Given the description of an element on the screen output the (x, y) to click on. 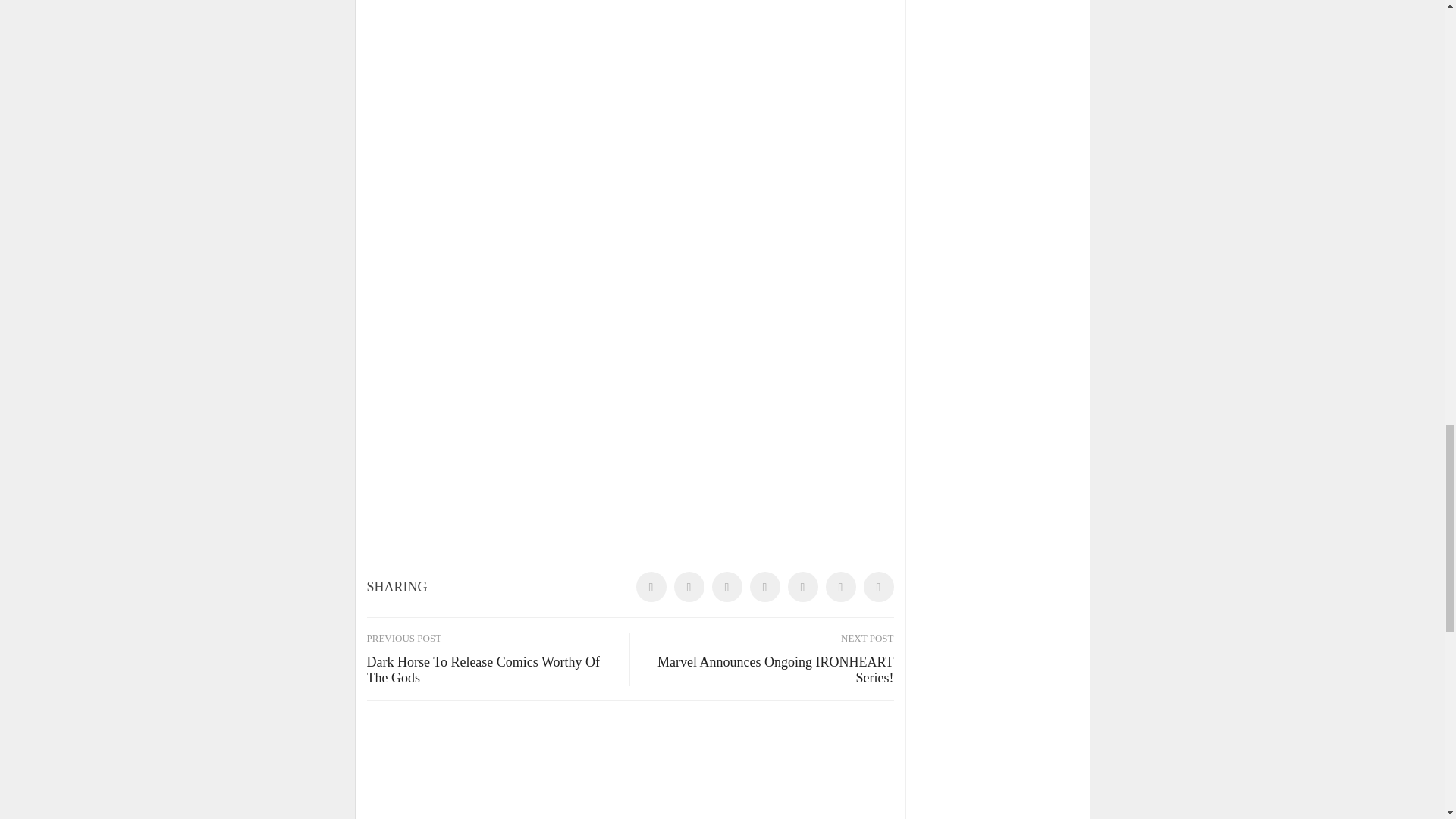
Share on Facebook (649, 586)
Email this (878, 586)
Share on LinkedIn (726, 586)
Share on Twitter (687, 586)
Share on Tumblr (763, 586)
Share on Google Plus (801, 586)
Pin this (840, 586)
